Given the description of an element on the screen output the (x, y) to click on. 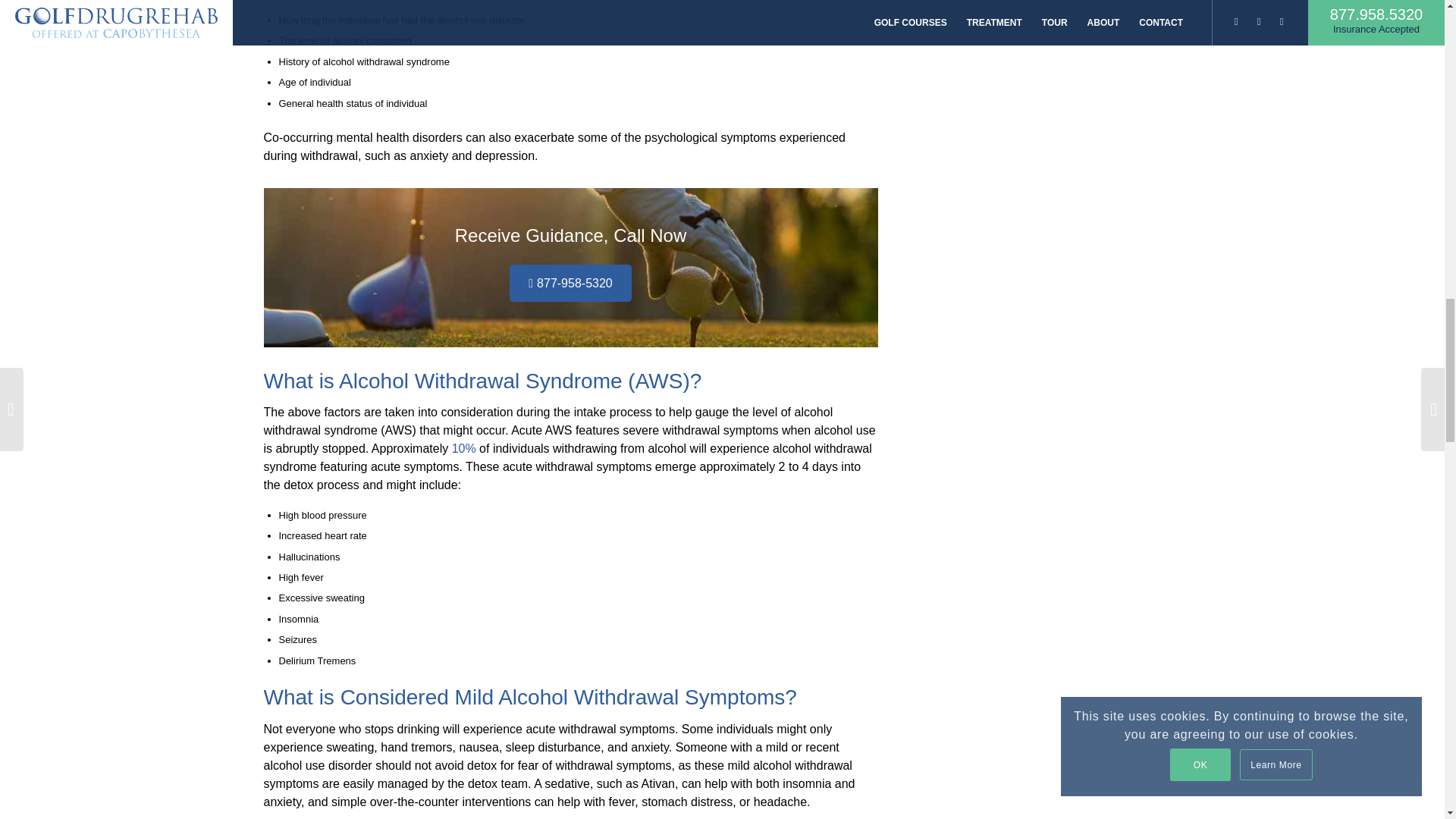
877-958-5320 (569, 283)
